Given the description of an element on the screen output the (x, y) to click on. 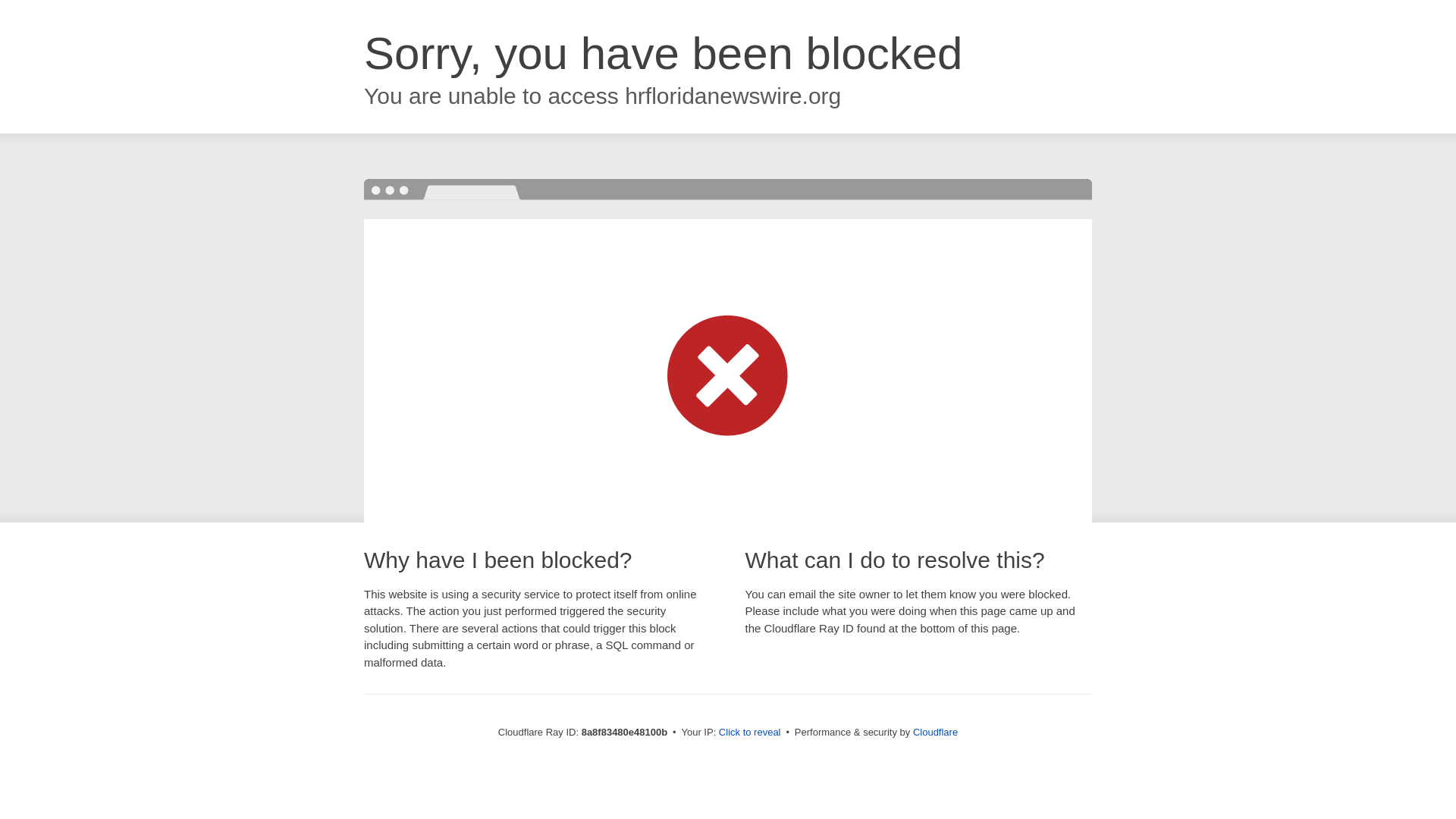
Cloudflare (935, 731)
Click to reveal (749, 732)
